Given the description of an element on the screen output the (x, y) to click on. 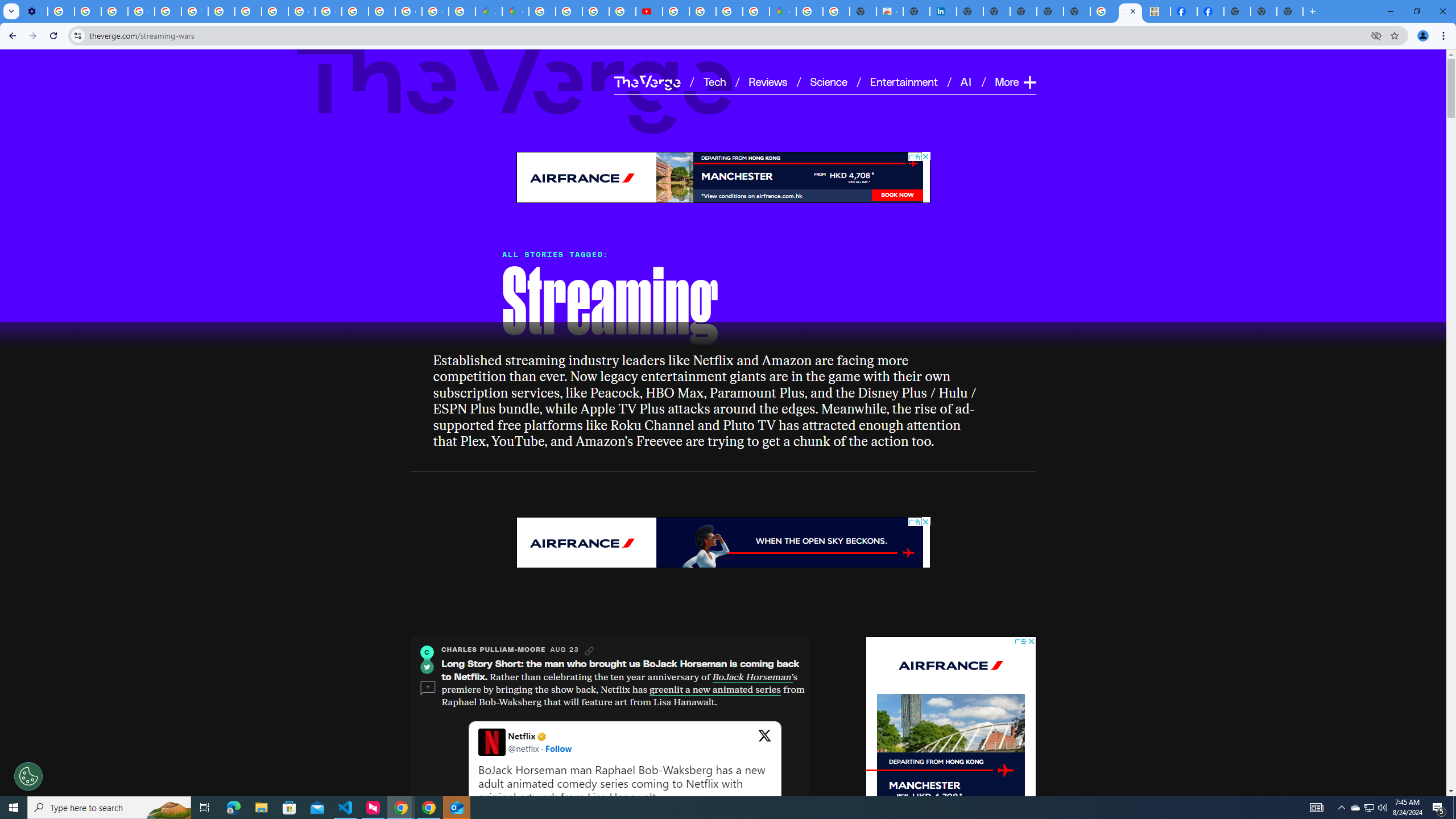
Privacy Help Center - Policies Help (569, 11)
Privacy Help Center - Policies Help (595, 11)
New Tab (1289, 11)
Subscriptions - YouTube (649, 11)
Comments (427, 688)
@netflix (523, 748)
AUG 23 (564, 649)
